Given the description of an element on the screen output the (x, y) to click on. 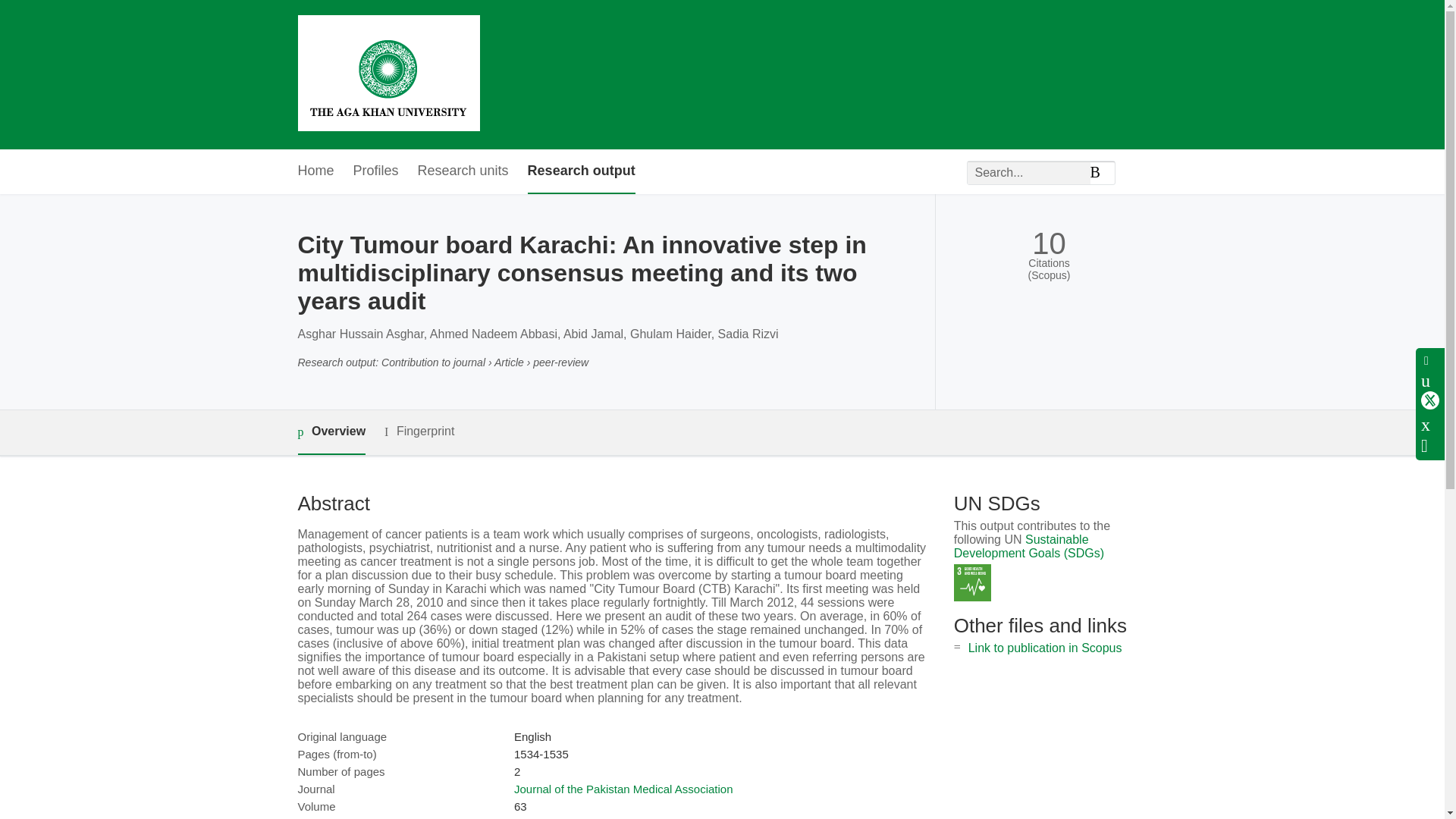
Journal of the Pakistan Medical Association (623, 788)
The Aga Khan University Home (388, 74)
Profiles (375, 171)
SDG 3 - Good Health and Well-being (972, 582)
Research output (580, 171)
Fingerprint (419, 431)
Link to publication in Scopus (1045, 647)
Research units (462, 171)
Overview (331, 432)
